Given the description of an element on the screen output the (x, y) to click on. 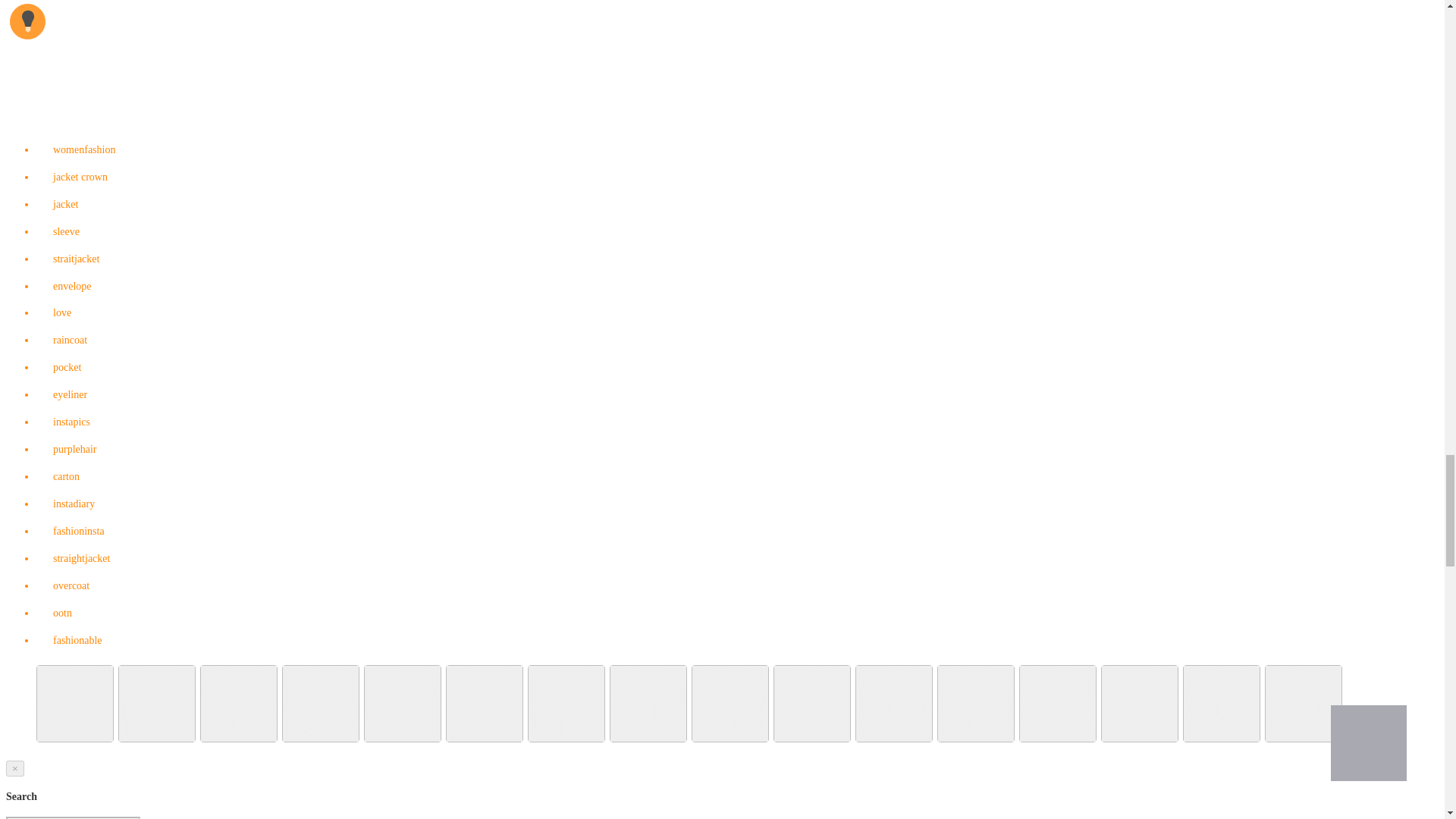
Advertisement (721, 62)
